Given the description of an element on the screen output the (x, y) to click on. 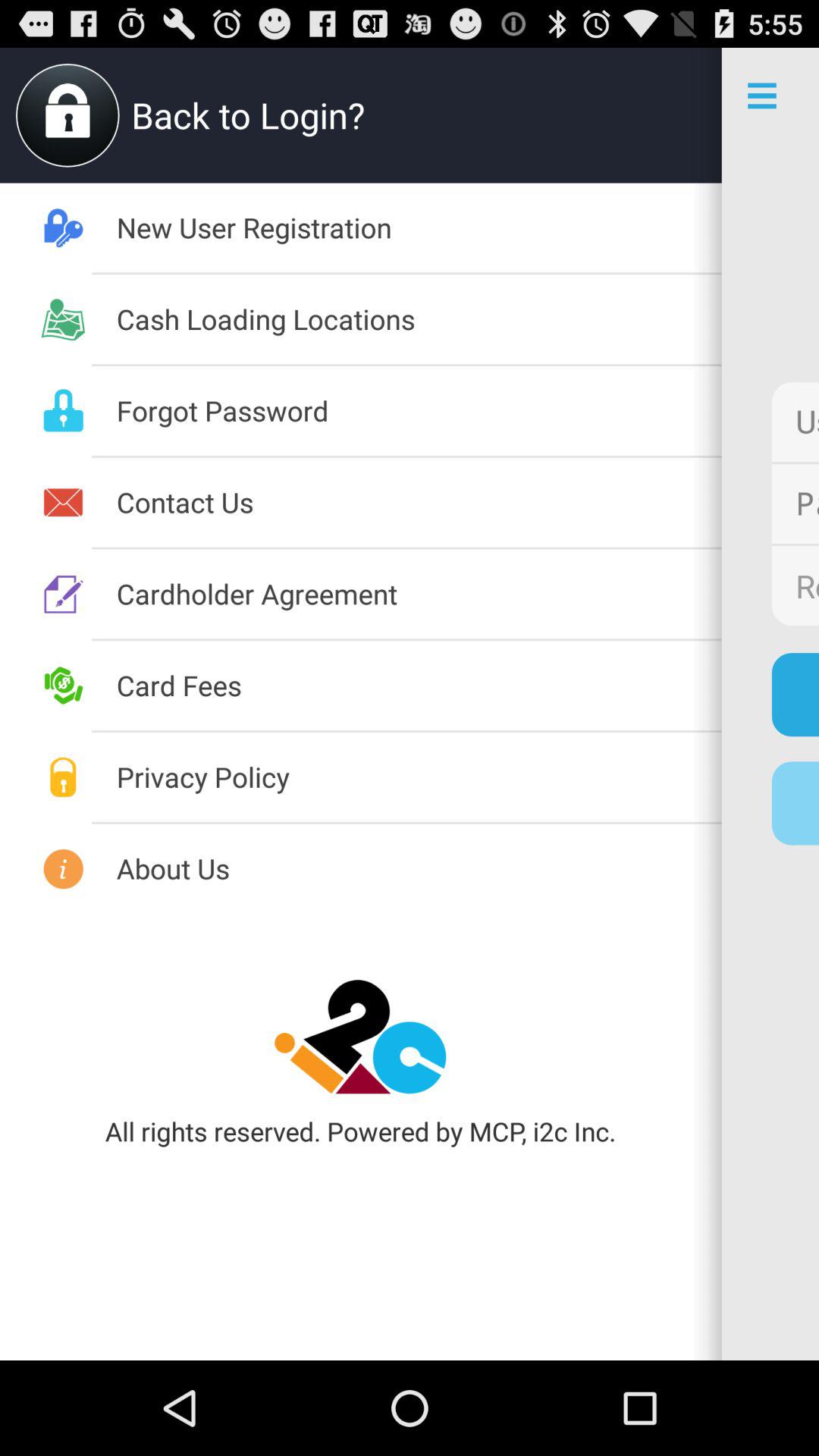
press app next to the back to login? icon (673, 115)
